Given the description of an element on the screen output the (x, y) to click on. 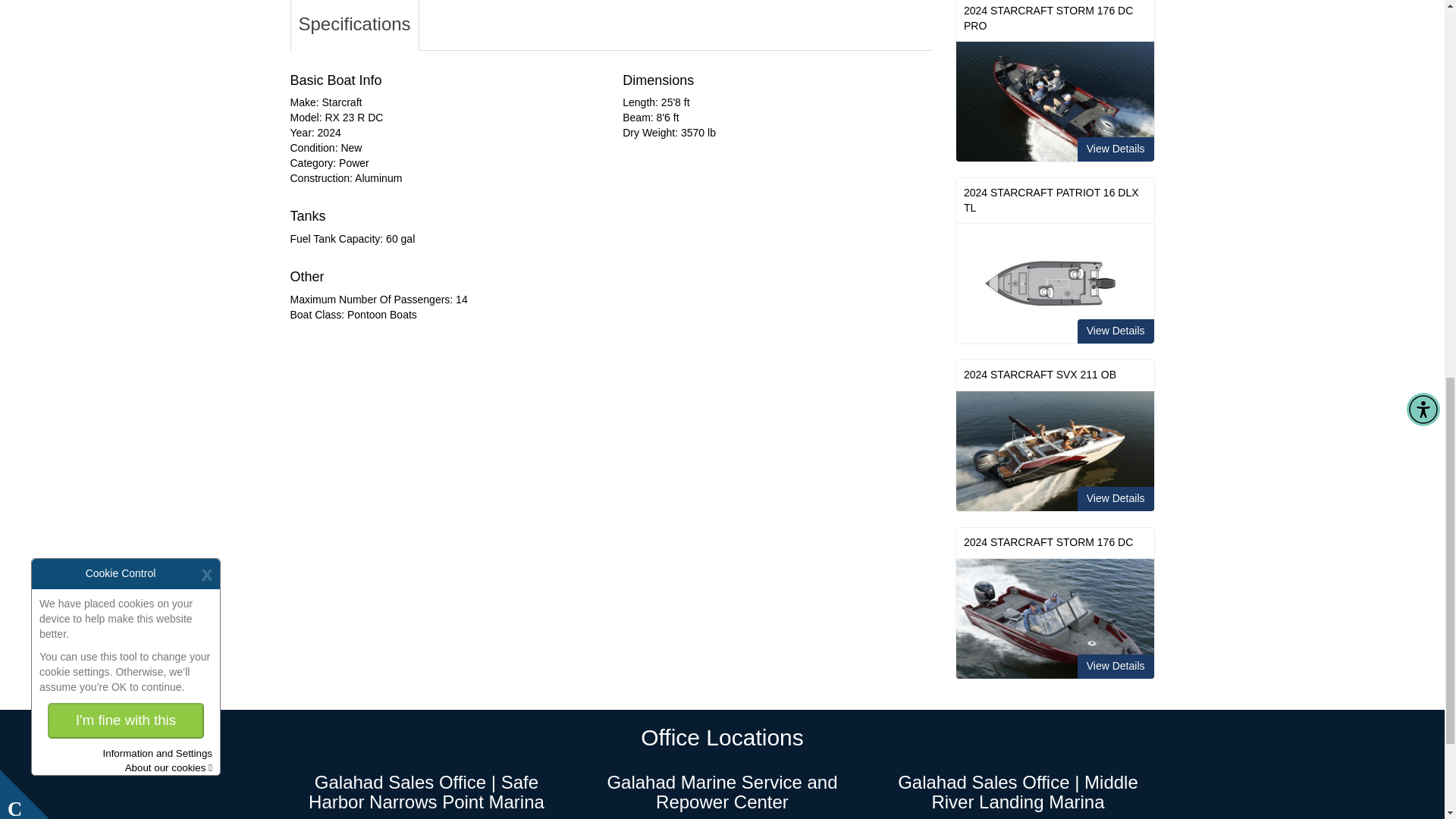
Specifications (354, 24)
